Given the description of an element on the screen output the (x, y) to click on. 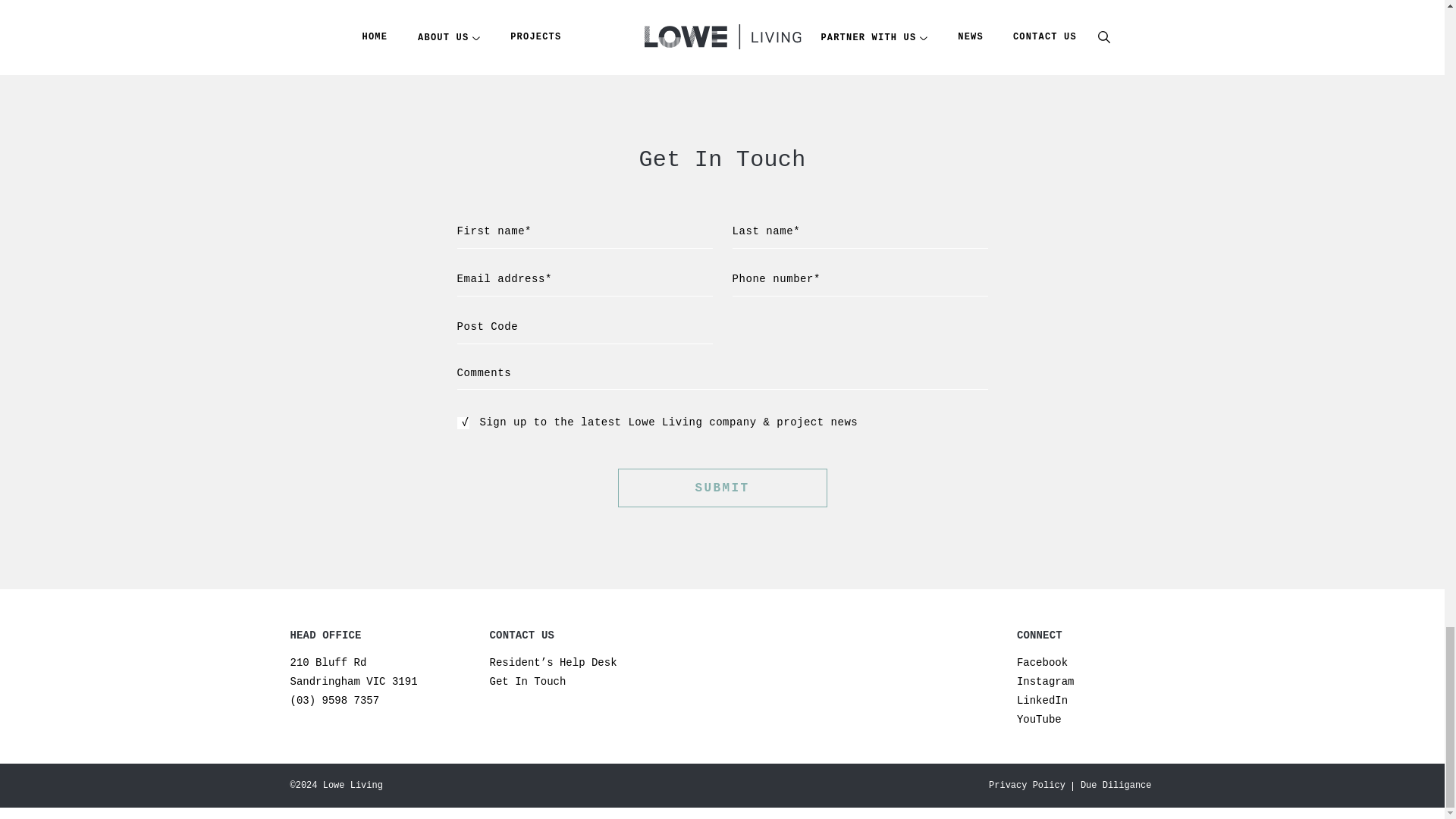
Get In Touch (527, 681)
Due Diligance (1115, 785)
Facebook (1041, 662)
Privacy Policy (1026, 785)
Submit (722, 487)
YouTube (1038, 719)
LinkedIn (1041, 700)
Submit (722, 487)
Instagram (352, 672)
